Given the description of an element on the screen output the (x, y) to click on. 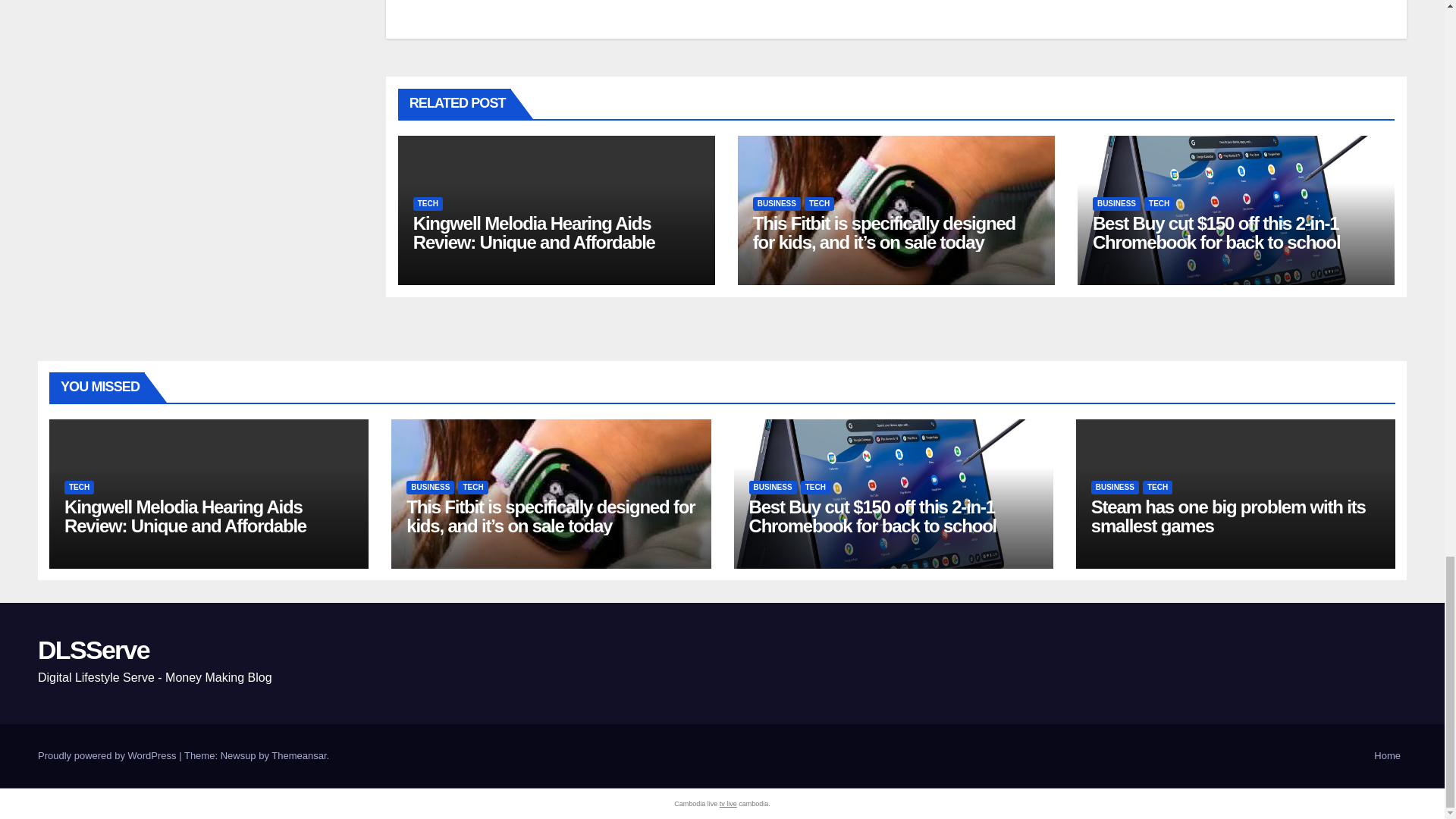
Home (1387, 755)
